Given the description of an element on the screen output the (x, y) to click on. 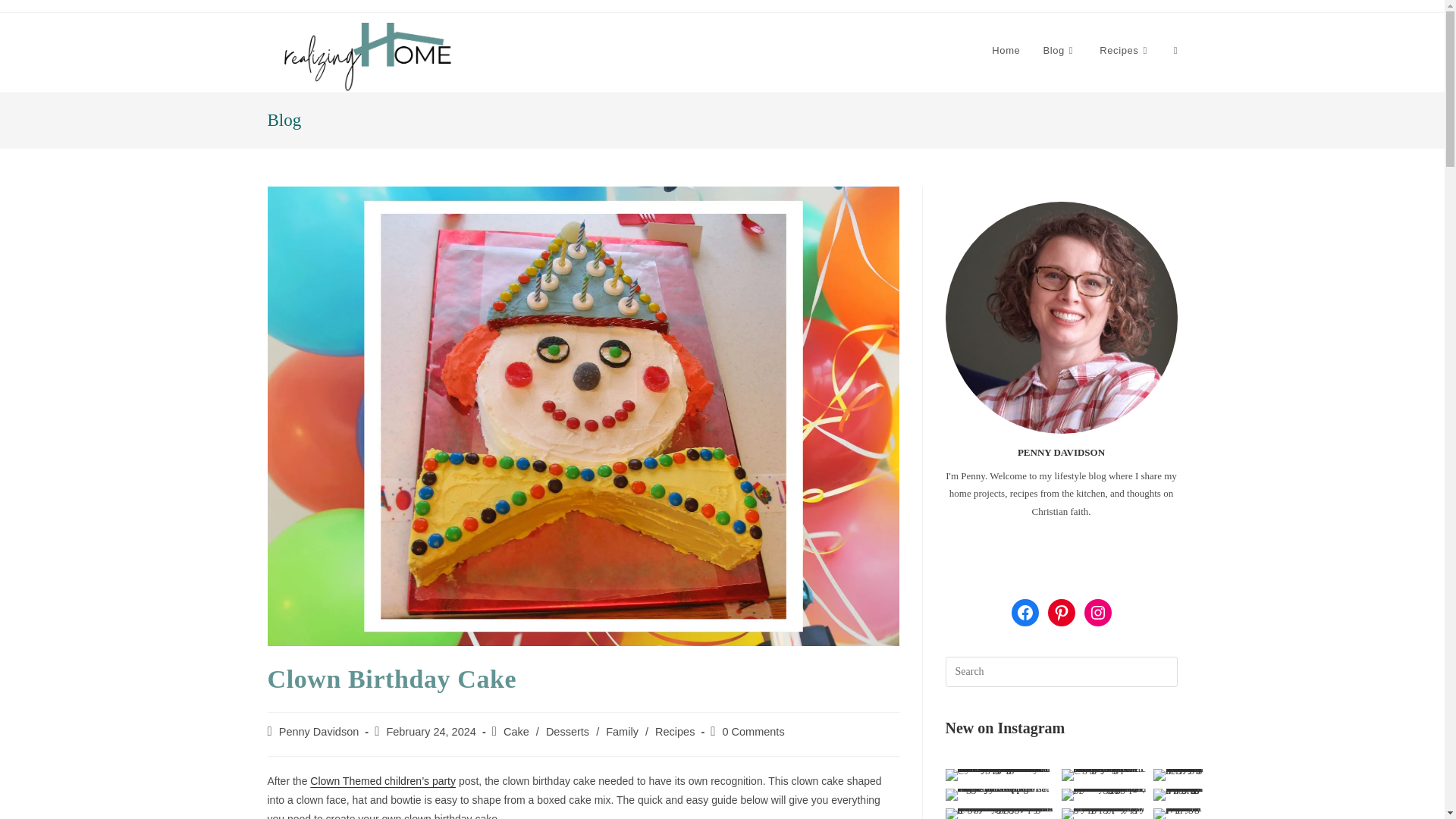
Home (1004, 50)
Blog (1058, 50)
Recipes (1124, 50)
Posts by Penny Davidson (319, 731)
